Given the description of an element on the screen output the (x, y) to click on. 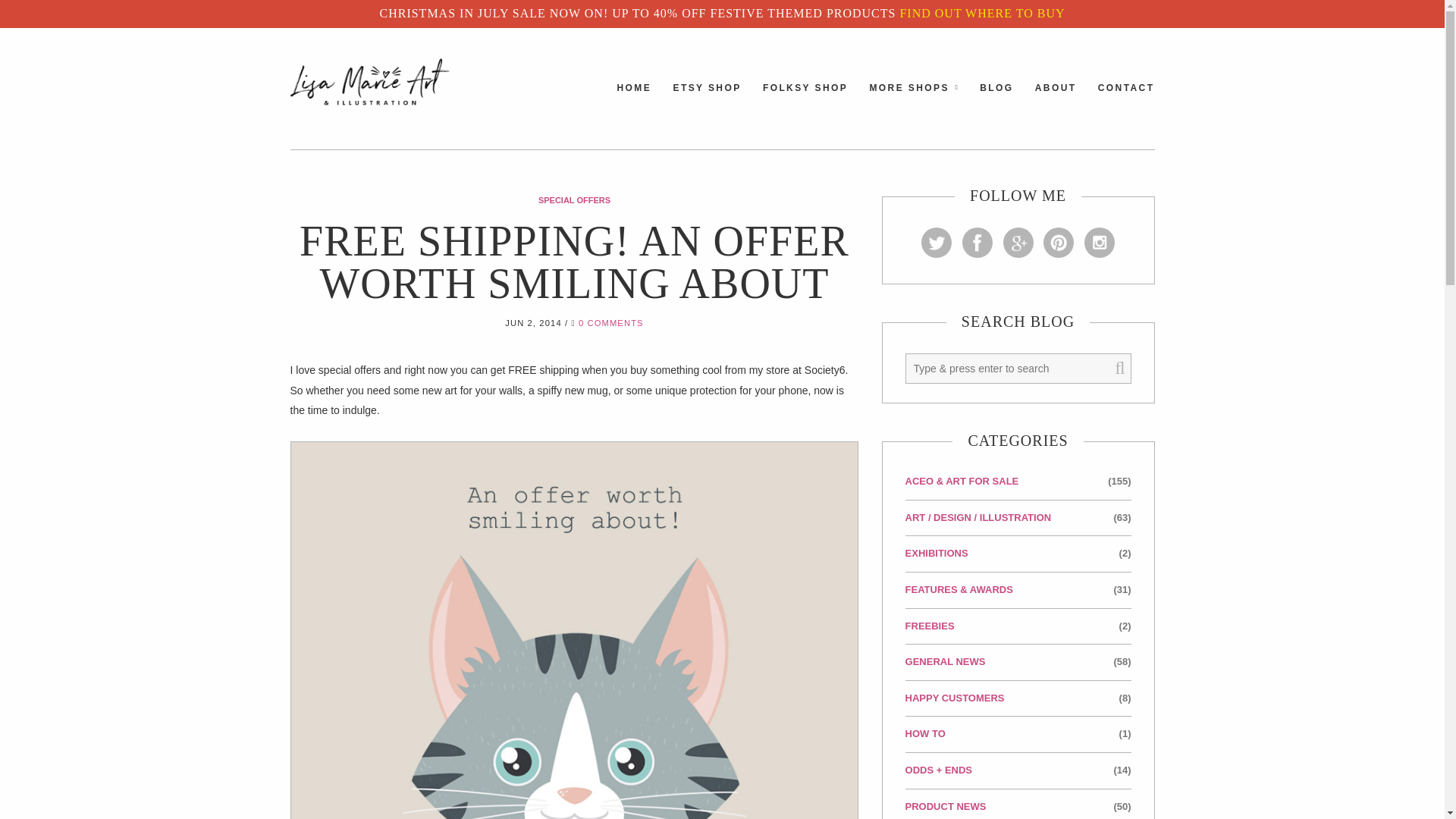
BLOG (996, 100)
ETSY SHOP (706, 100)
ABOUT (1056, 100)
0 COMMENTS (610, 322)
SPECIAL OFFERS (574, 199)
MORE SHOPS (909, 100)
FOLKSY SHOP (804, 100)
Visit my Folksy Shop (804, 100)
CONTACT (1125, 100)
HOME (634, 100)
Visit my Etsy Shop (706, 100)
FIND OUT WHERE TO BUY (981, 12)
